Given the description of an element on the screen output the (x, y) to click on. 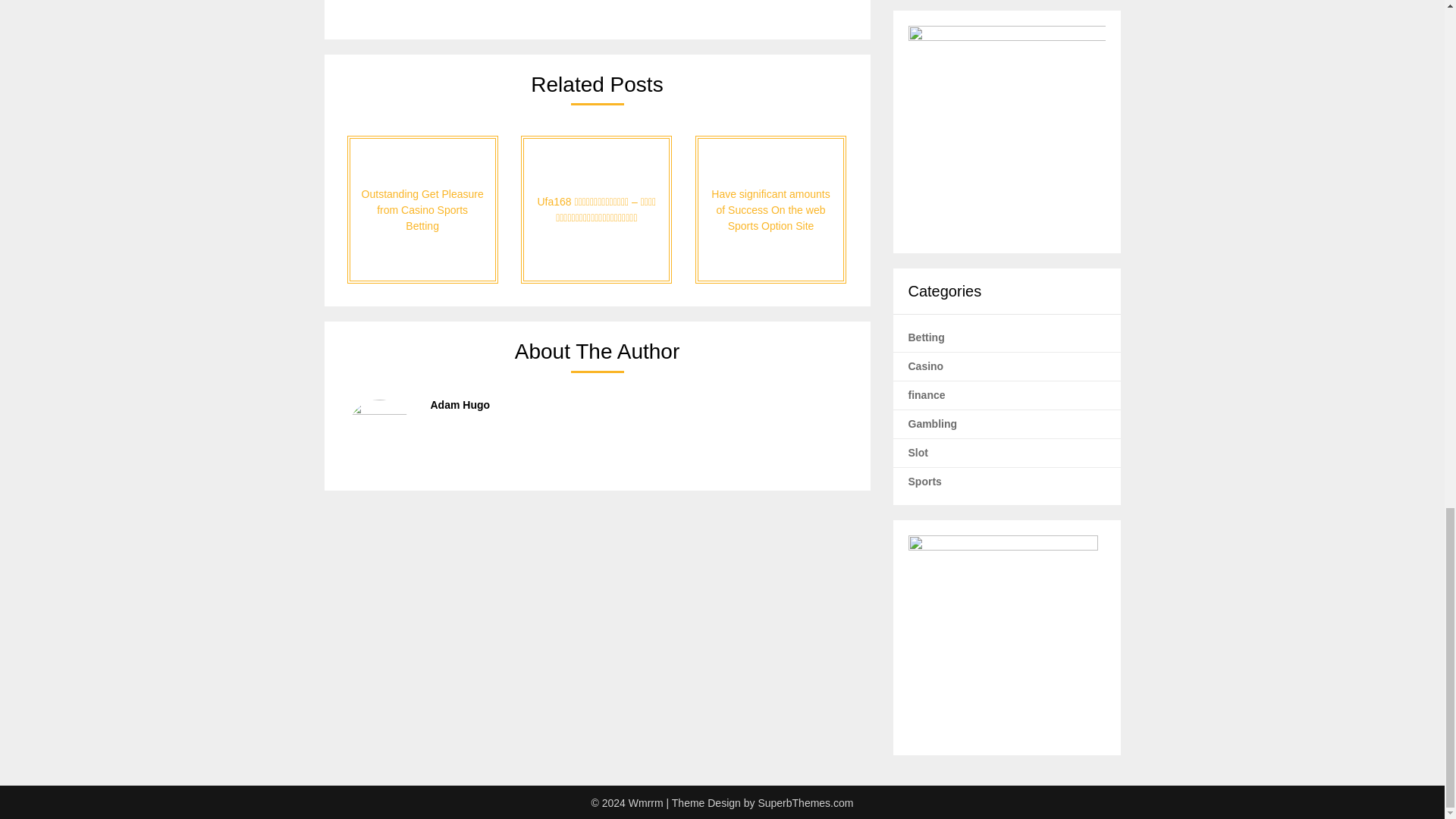
finance (926, 394)
Betting (926, 336)
Outstanding Get Pleasure from Casino Sports Betting (422, 209)
Sports (925, 480)
Gambling (933, 422)
SuperbThemes.com (805, 802)
Casino (925, 365)
Outstanding Get Pleasure from Casino Sports Betting (422, 209)
